Given the description of an element on the screen output the (x, y) to click on. 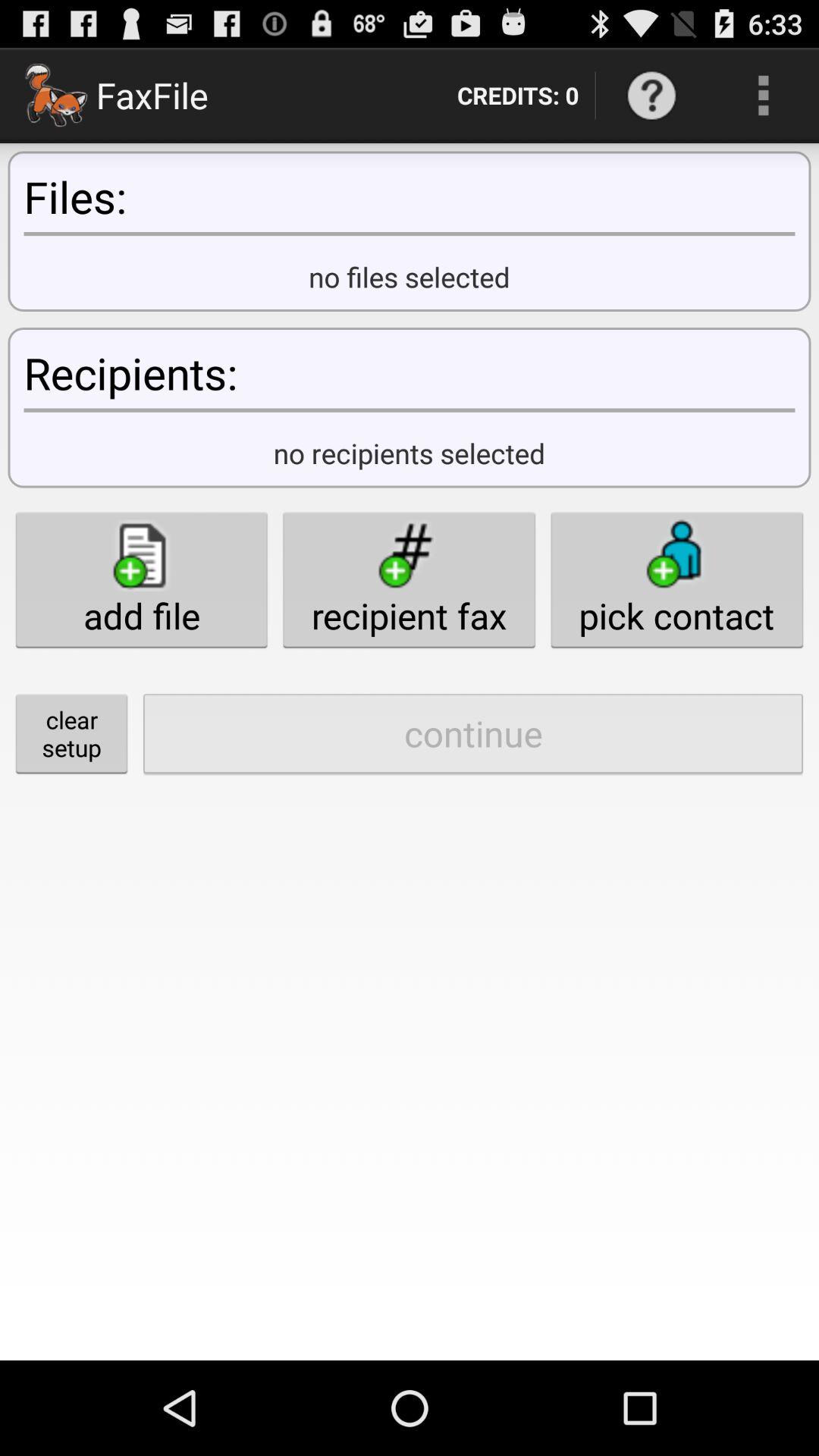
choose the recipient fax icon (409, 579)
